Given the description of an element on the screen output the (x, y) to click on. 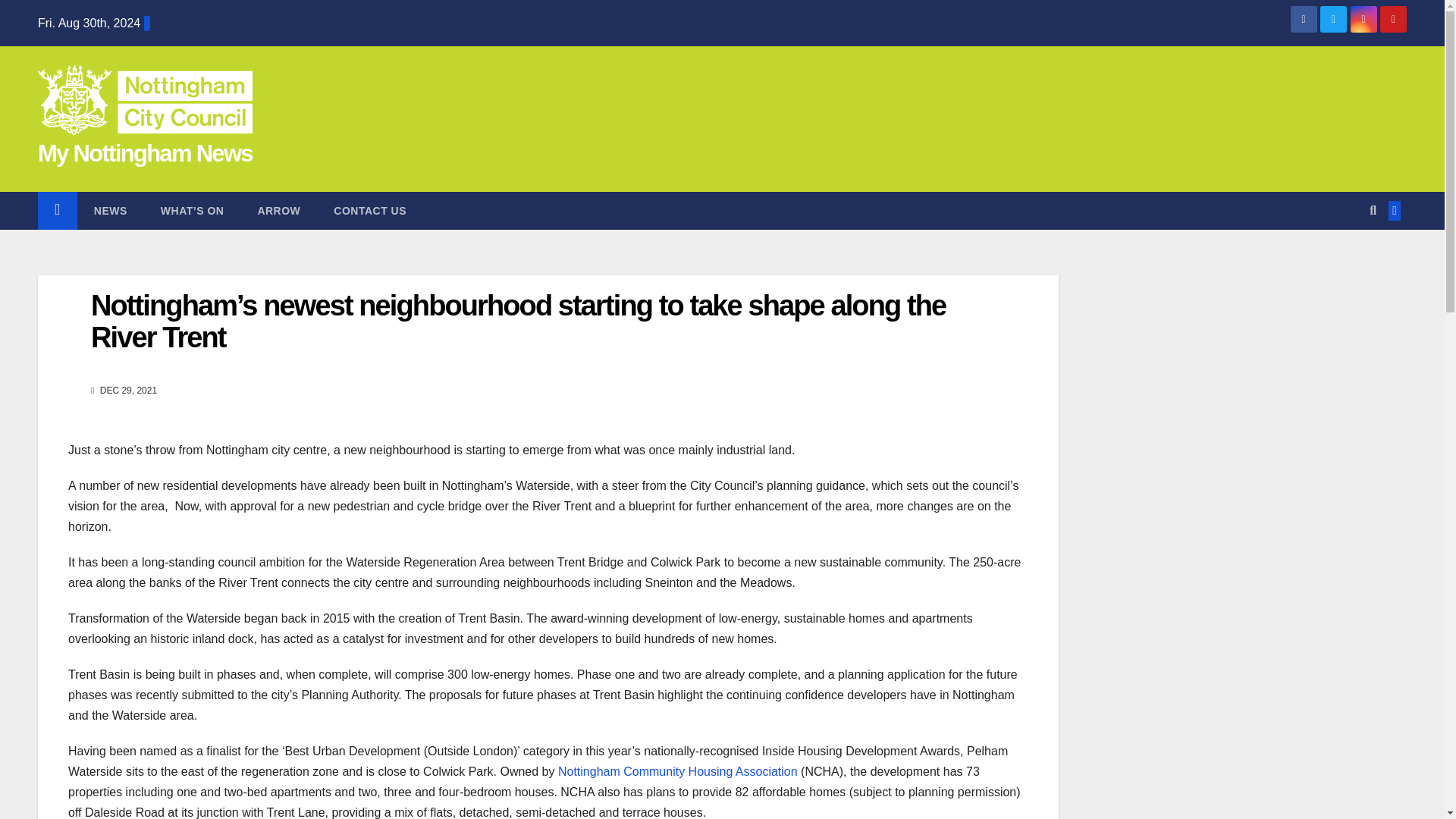
CONTACT US (370, 210)
What's On (192, 210)
Nottingham Community Housing Association (677, 771)
News (110, 210)
ARROW (278, 210)
NEWS (110, 210)
My Nottingham News (144, 153)
